Given the description of an element on the screen output the (x, y) to click on. 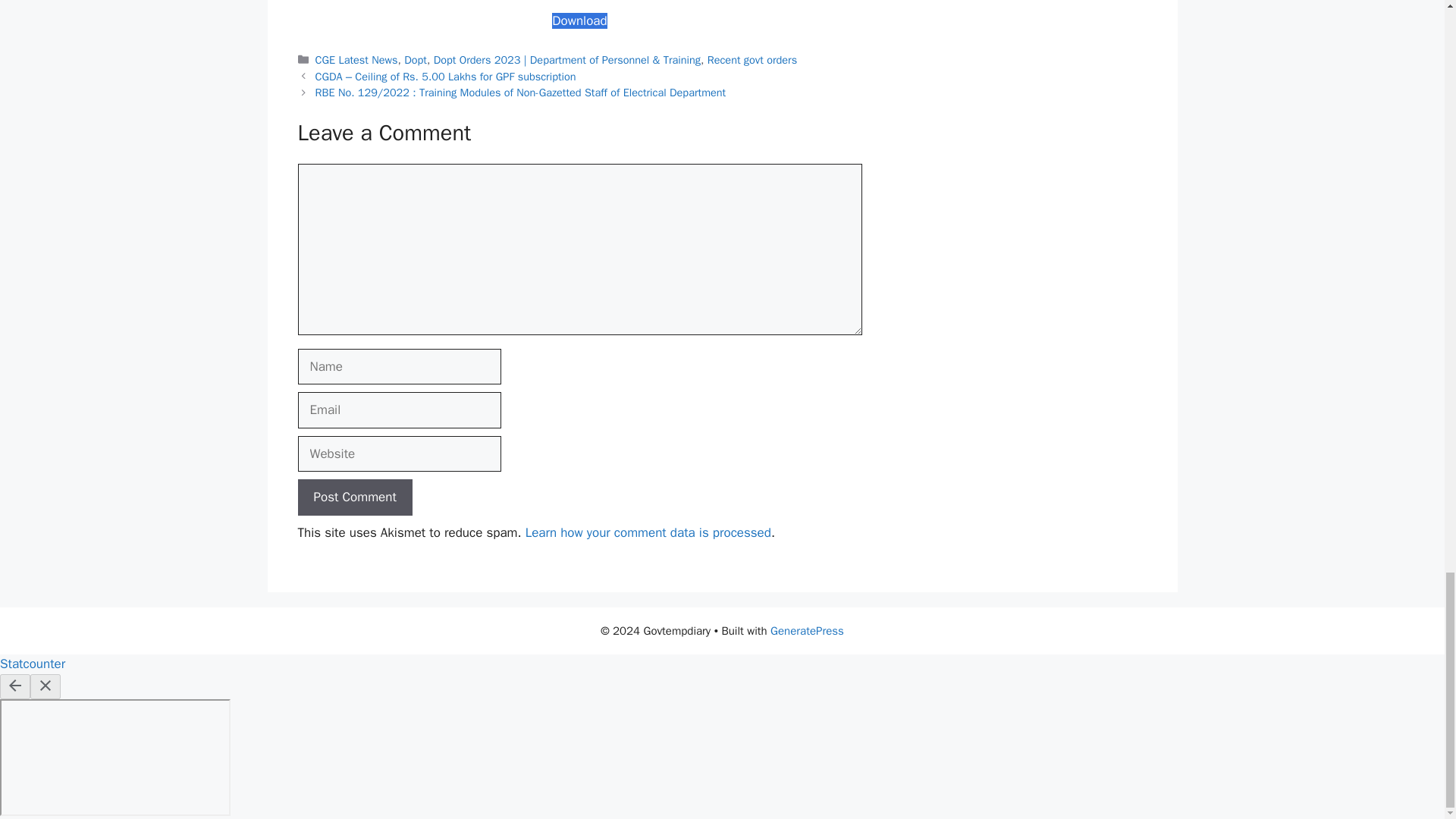
Download (579, 20)
Dopt (415, 59)
Learn how your comment data is processed (648, 532)
Post Comment (354, 497)
Recent govt orders (752, 59)
CGE Latest News (356, 59)
Post Comment (354, 497)
